Given the description of an element on the screen output the (x, y) to click on. 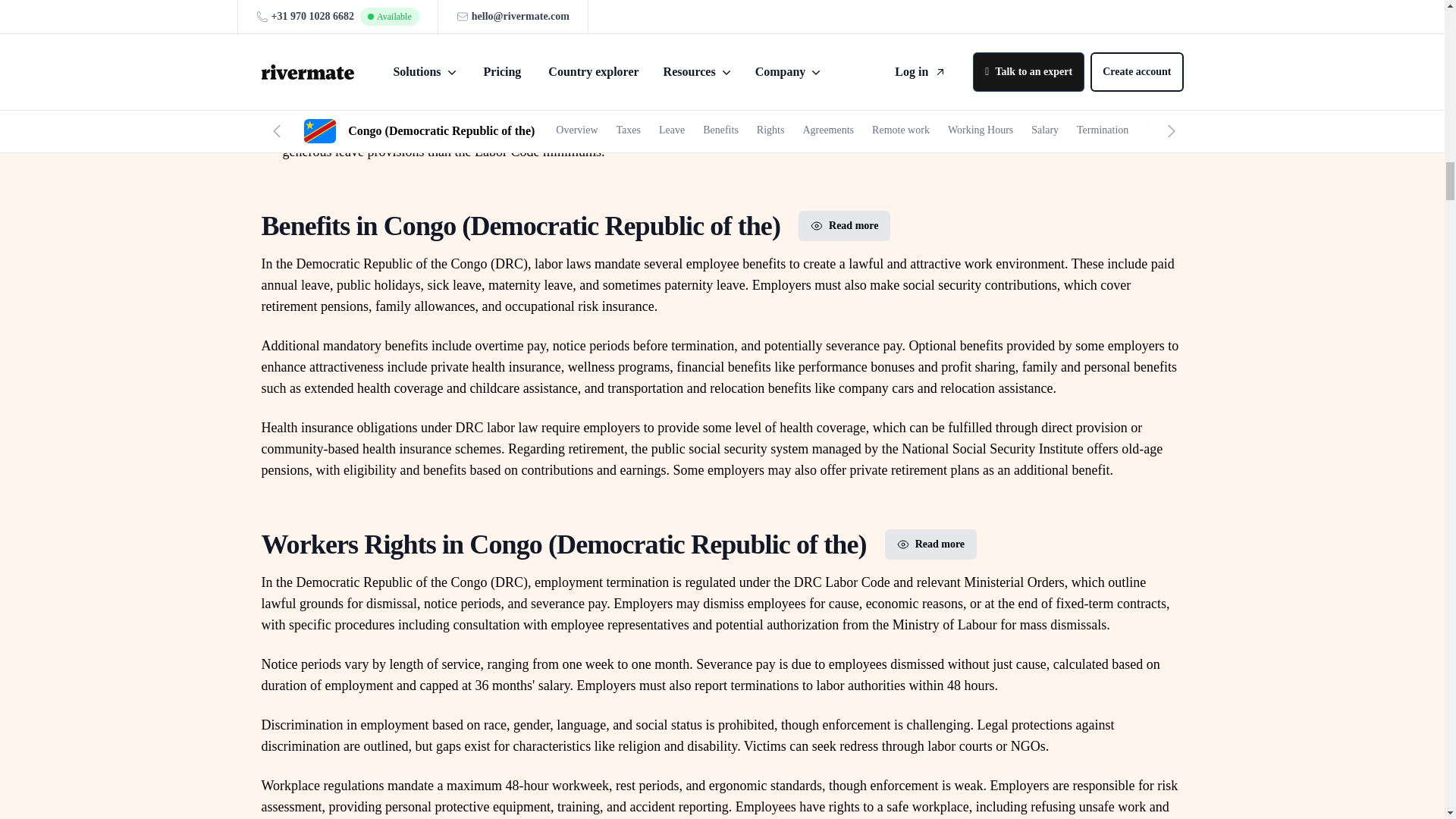
Read more (843, 225)
Read more (930, 544)
